Given the description of an element on the screen output the (x, y) to click on. 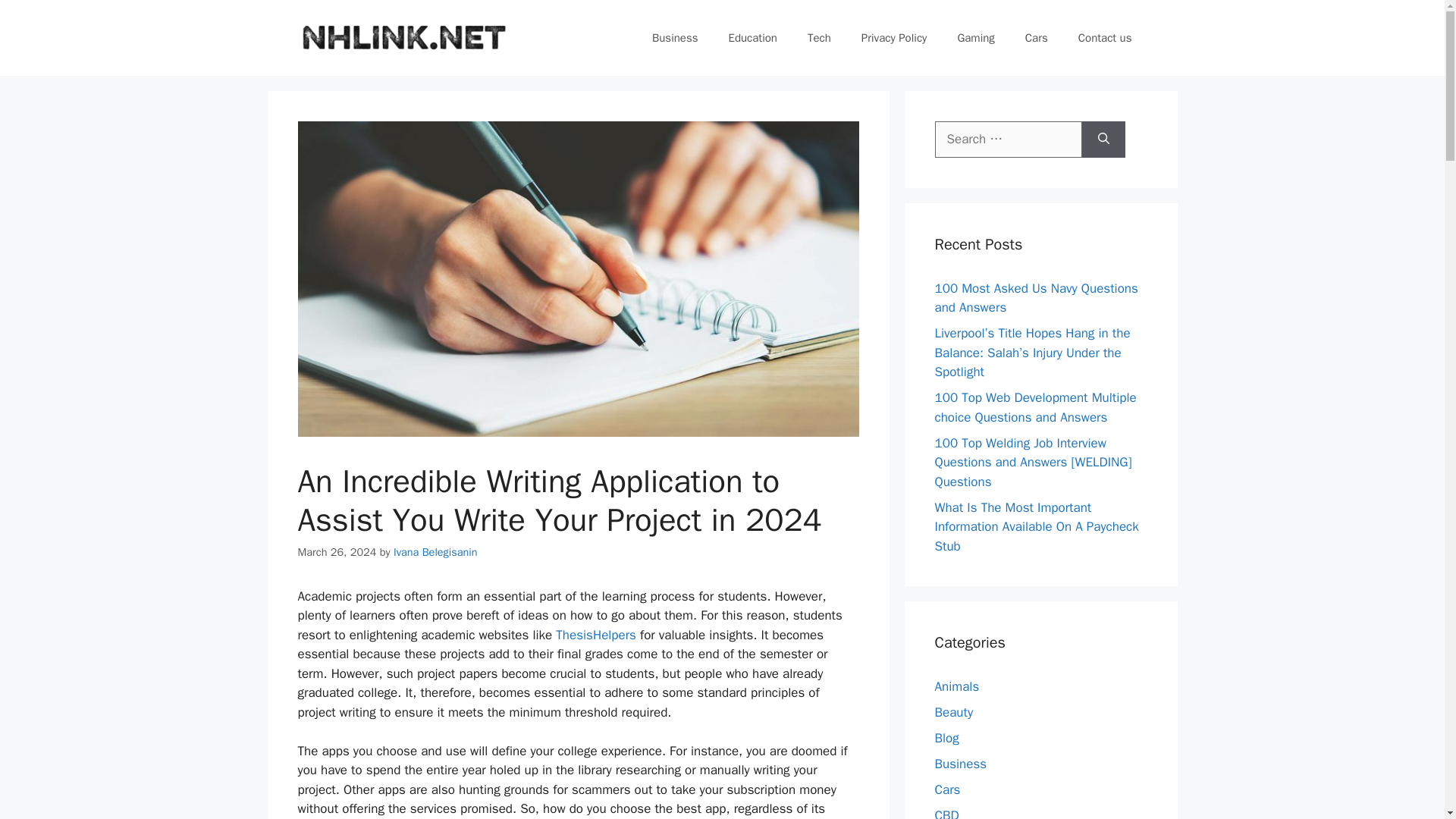
100 Most Asked Us Navy Questions and Answers (1035, 298)
Contact us (1104, 37)
Animals (956, 686)
ThesisHelpers (596, 634)
Privacy Policy (893, 37)
Gaming (975, 37)
Tech (818, 37)
Education (752, 37)
Beauty (953, 712)
